Given the description of an element on the screen output the (x, y) to click on. 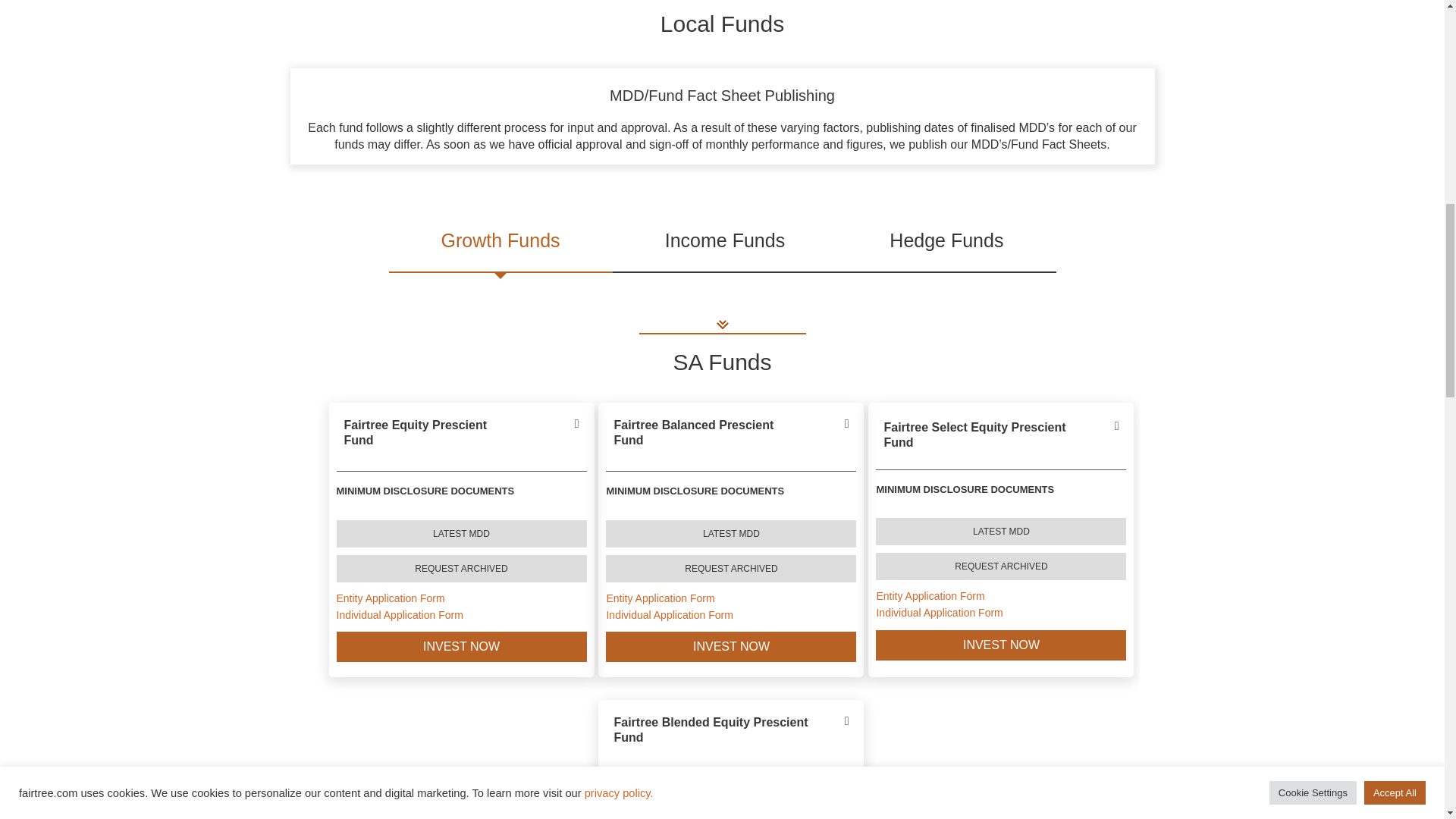
fairtree icon (721, 324)
